Given the description of an element on the screen output the (x, y) to click on. 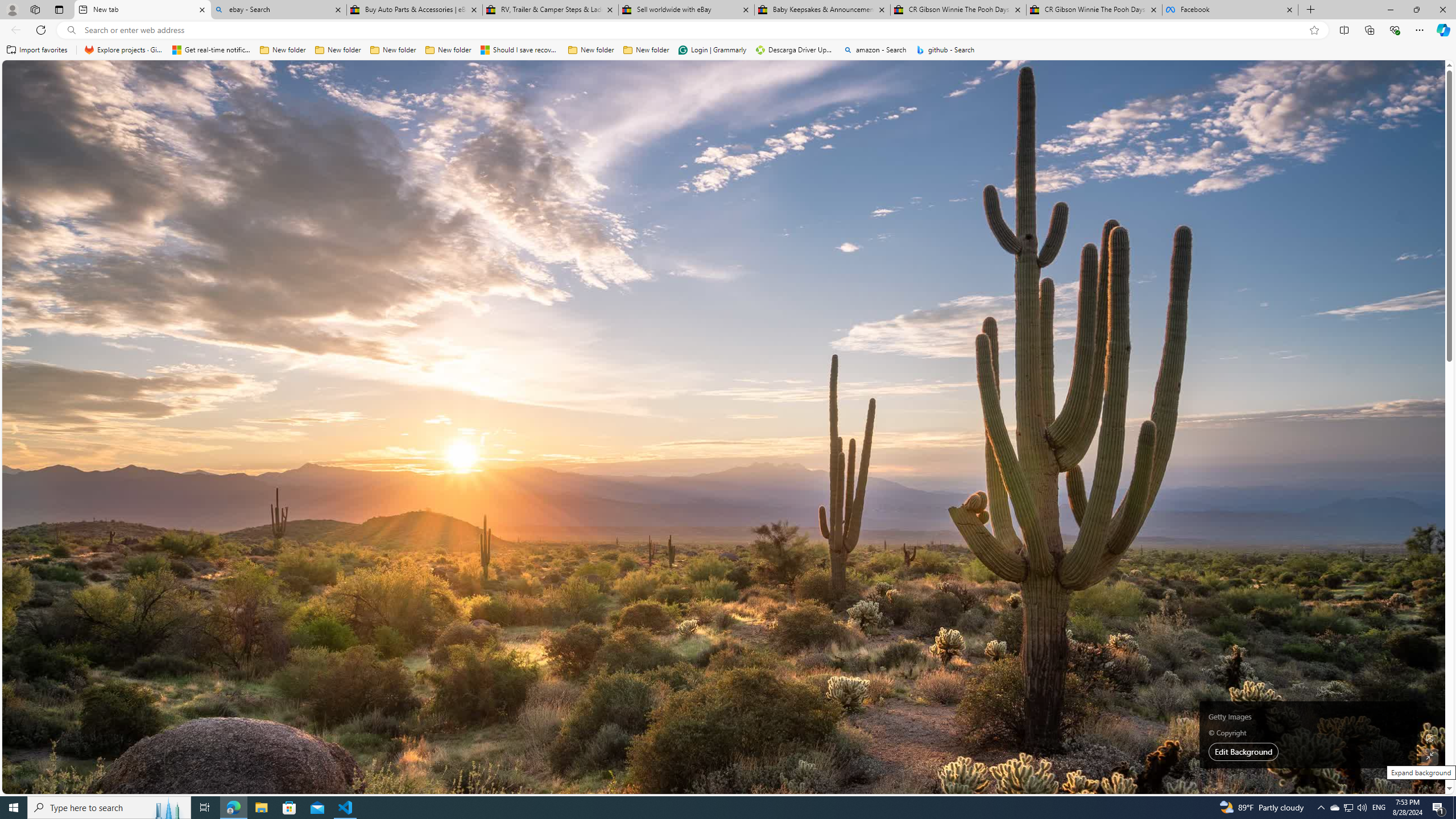
Expand background (1430, 756)
AutomationID: tab-25 (472, 328)
Page settings (1420, 78)
Import favorites (36, 49)
AutomationID: tab-21 (454, 328)
AutomationID: tab-26 (476, 328)
